Given the description of an element on the screen output the (x, y) to click on. 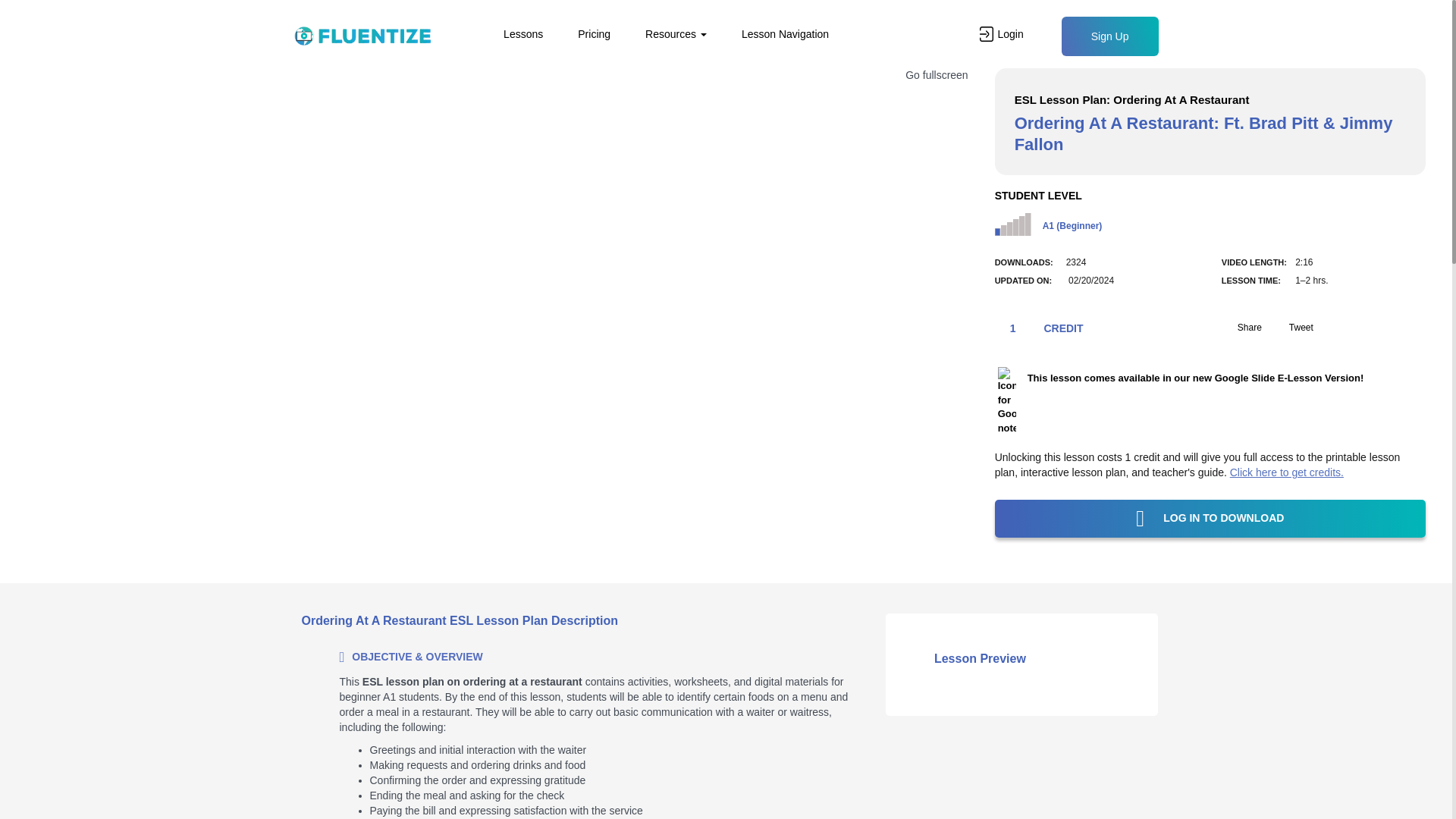
Pricing (593, 32)
Click here to get credits. (1286, 472)
Lessons (523, 32)
Sign Up (1109, 36)
Tweet (1292, 327)
Share (1241, 327)
LOG IN TO DOWNLOAD (1209, 518)
Login (995, 32)
Lesson Navigation (785, 32)
Resources (675, 32)
